Given the description of an element on the screen output the (x, y) to click on. 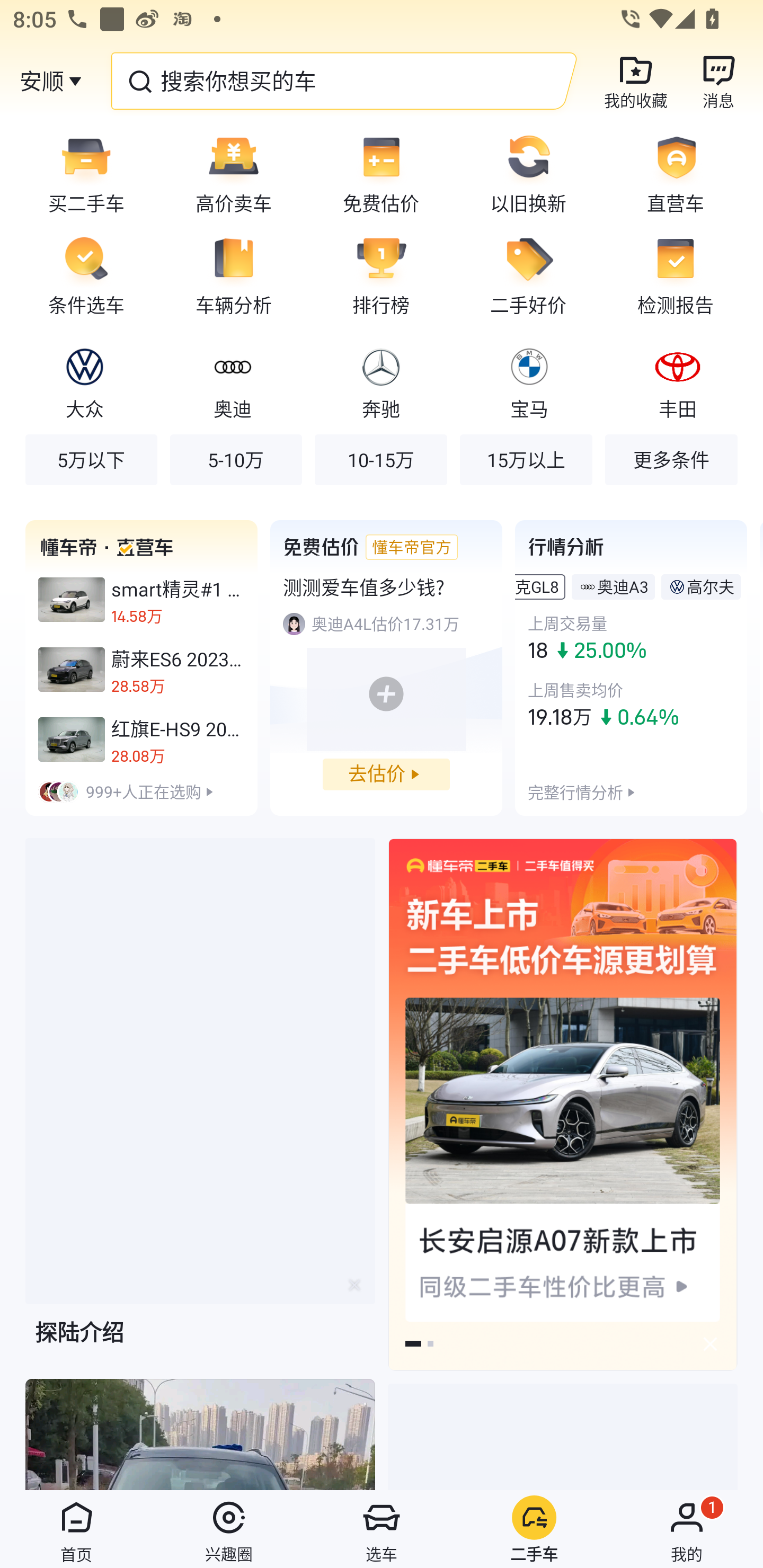
我的收藏 (635, 80)
安顺 (41, 80)
买二手车 (80, 172)
高价卖车 (233, 172)
免费估价 (380, 172)
以旧换新 (528, 172)
直营车 (682, 172)
条件选车 (80, 274)
车辆分析 (233, 274)
排行榜 (380, 274)
二手好价 (528, 274)
检测报告 (682, 274)
大众 (84, 381)
奥迪 (232, 381)
奔驰 (380, 381)
宝马 (529, 381)
丰田 (677, 381)
5万以下 (91, 459)
5-10万 (236, 459)
10-15万 (380, 459)
15万以上 (526, 459)
更多条件 (671, 459)
测测爱车值多少钱? 奥迪A4L估价17.31万 去估价  (386, 667)
smart精灵#1 2023款 Pro 14.58万 (141, 599)
别克GL8 (537, 585)
奥迪A3 (622, 585)
高尔夫 (710, 585)
蔚来ES6 2023款 75kWh 28.58万 (141, 669)
红旗E-HS9 2020款 460km 旗享版 六座 28.08万 (141, 739)
999+人正在选购 (141, 791)
完整行情分析 (575, 791)
探陆介绍 (200, 1107)
 首页 (76, 1528)
 兴趣圈 (228, 1528)
 选车 (381, 1528)
二手车 (533, 1528)
 我的 (686, 1528)
